Given the description of an element on the screen output the (x, y) to click on. 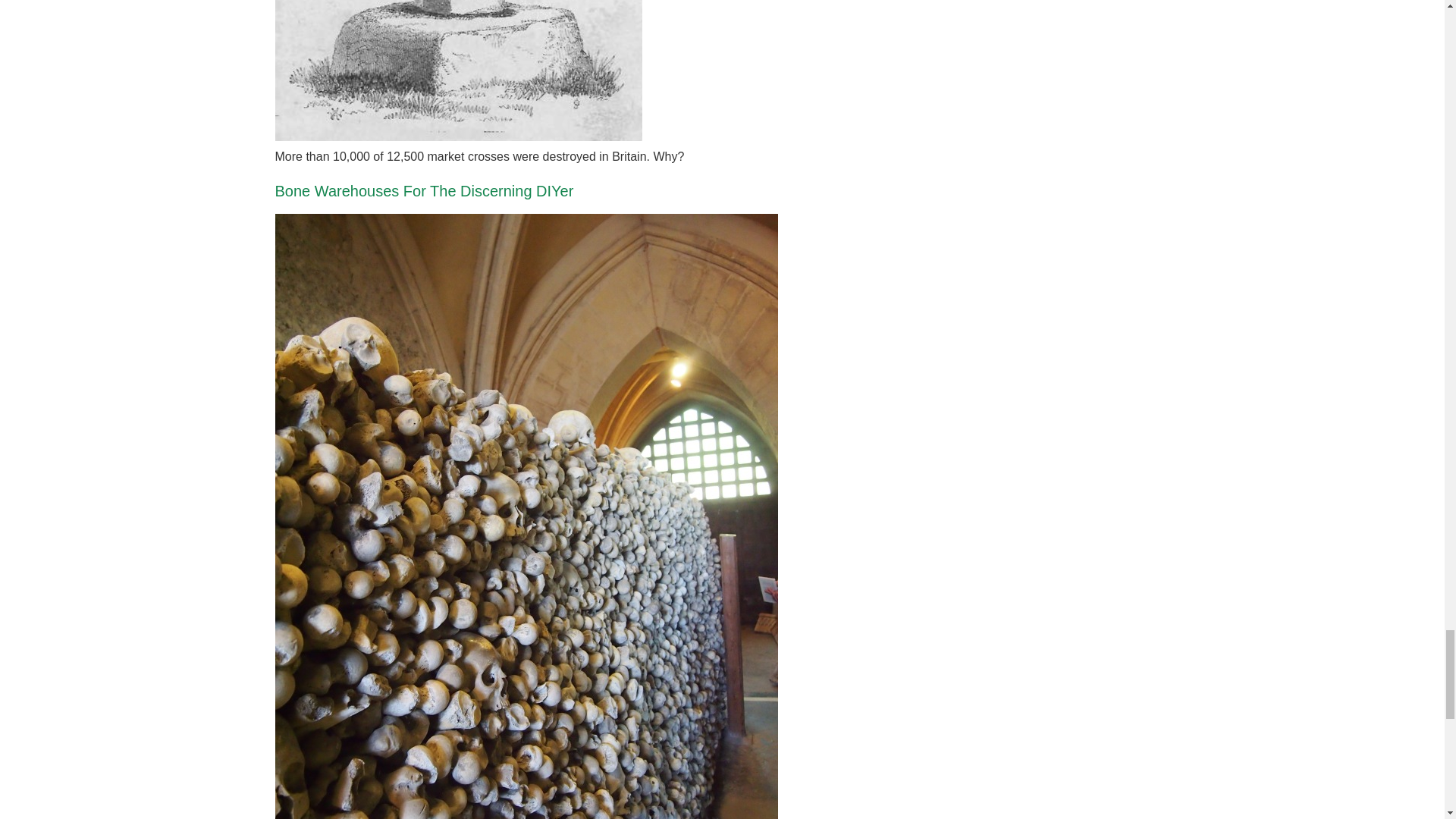
Bone Warehouses For The Discerning DIYer (424, 190)
